Given the description of an element on the screen output the (x, y) to click on. 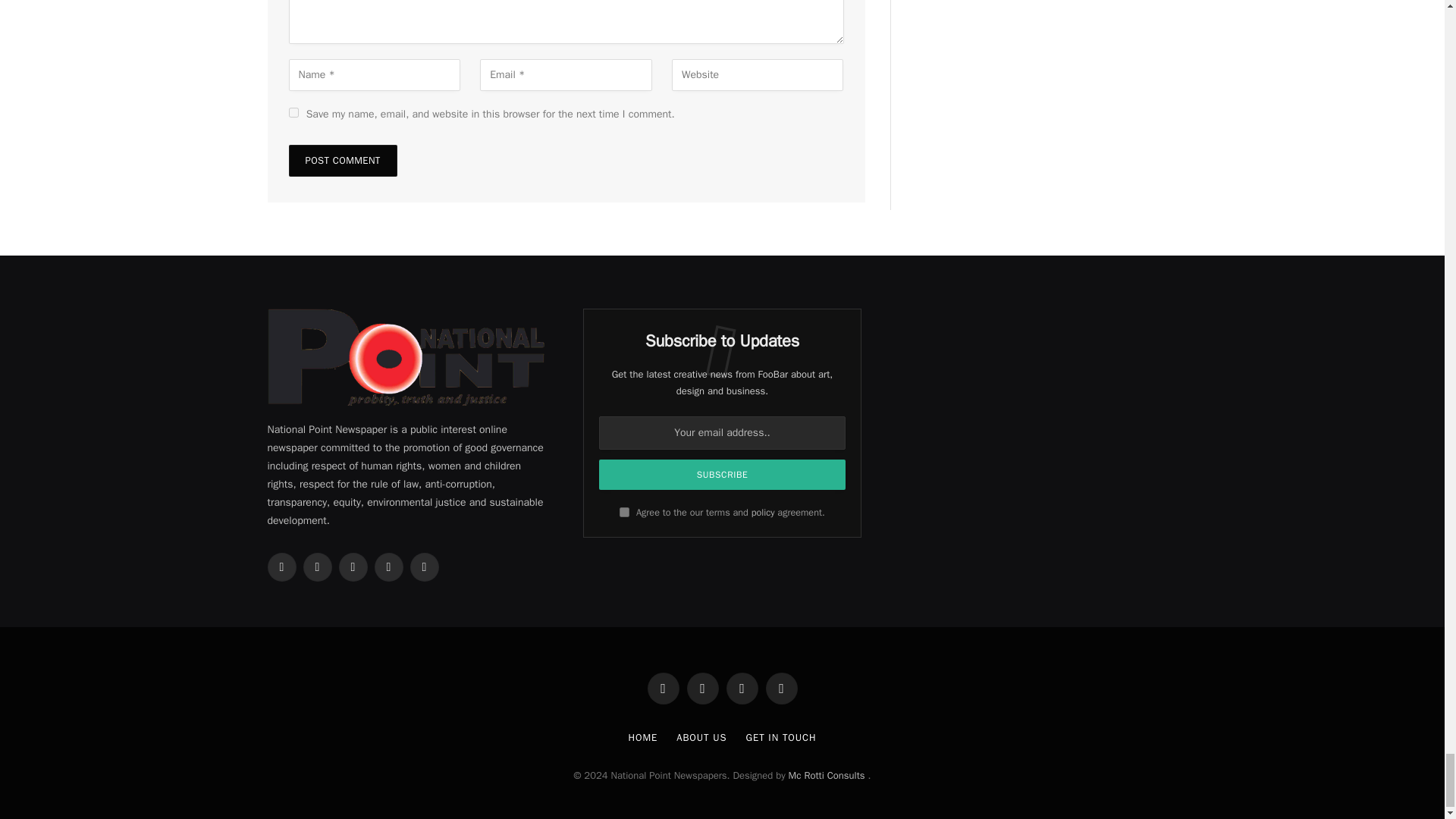
Subscribe (721, 474)
Post Comment (342, 160)
yes (293, 112)
on (624, 511)
